Given the description of an element on the screen output the (x, y) to click on. 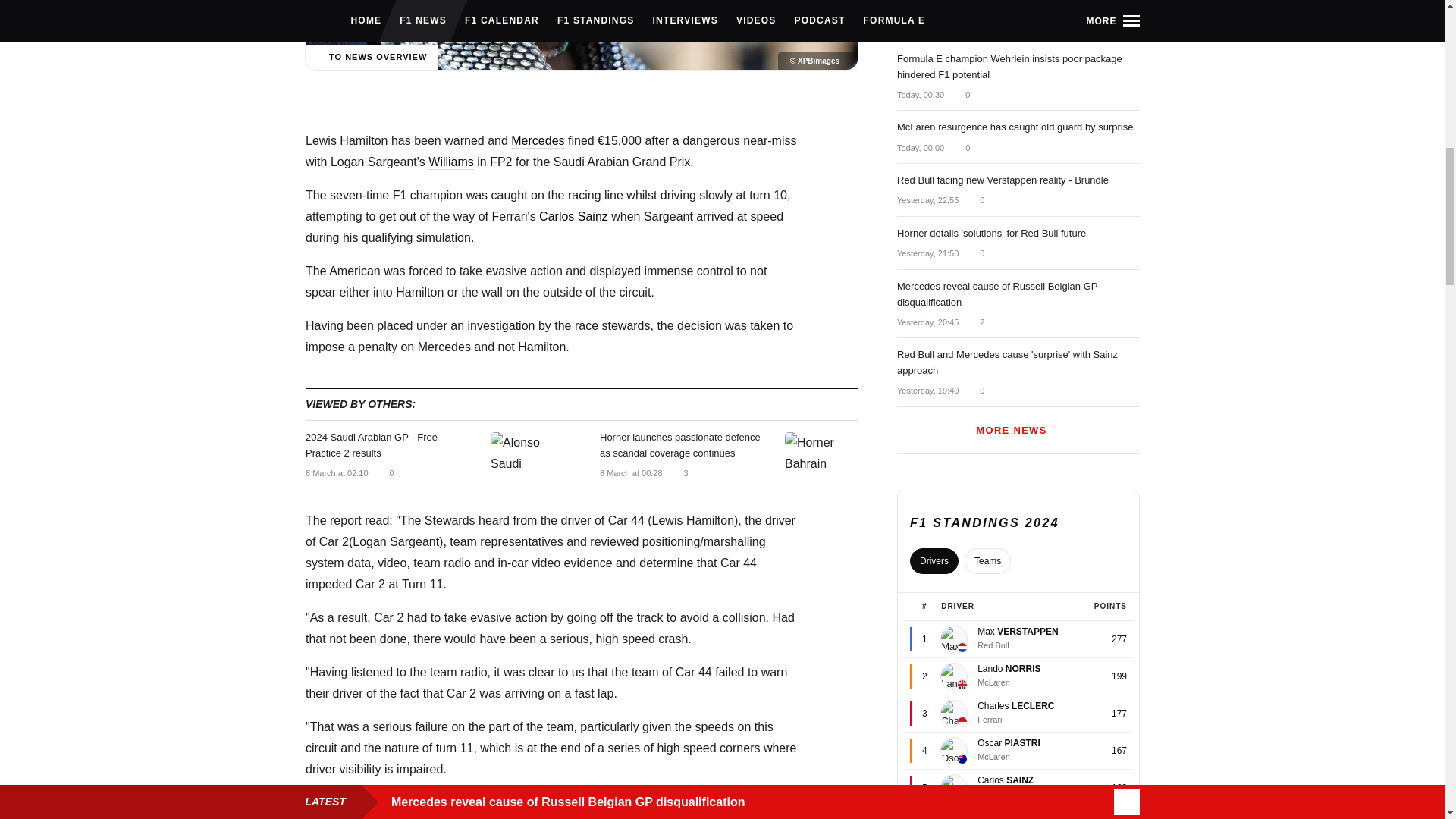
Friday, 8 March 2024 at 00:28 (630, 472)
Friday, 8 March 2024 at 02:10 (336, 472)
